Given the description of an element on the screen output the (x, y) to click on. 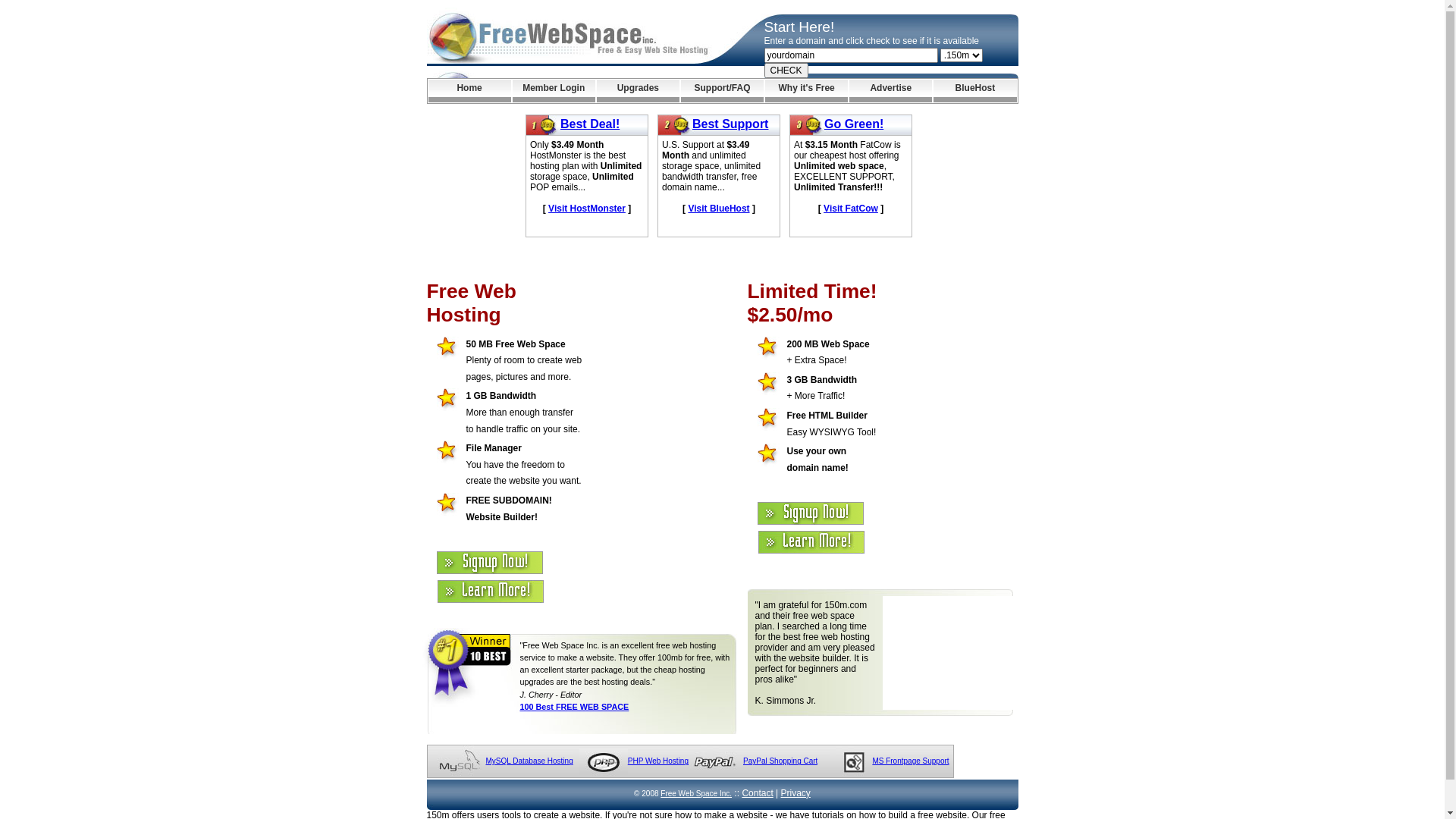
Privacy Element type: text (795, 792)
PayPal Shopping Cart Element type: text (780, 760)
Why it's Free Element type: text (806, 90)
MySQL Database Hosting Element type: text (528, 760)
BlueHost Element type: text (974, 90)
Member Login Element type: text (553, 90)
Contact Element type: text (756, 792)
Free Web Space Inc. Element type: text (695, 793)
Upgrades Element type: text (637, 90)
100 Best FREE WEB SPACE Element type: text (574, 706)
Home Element type: text (468, 90)
CHECK Element type: text (786, 70)
Support/FAQ Element type: text (721, 90)
PHP Web Hosting Element type: text (657, 760)
MS Frontpage Support Element type: text (910, 760)
Advertise Element type: text (890, 90)
